Given the description of an element on the screen output the (x, y) to click on. 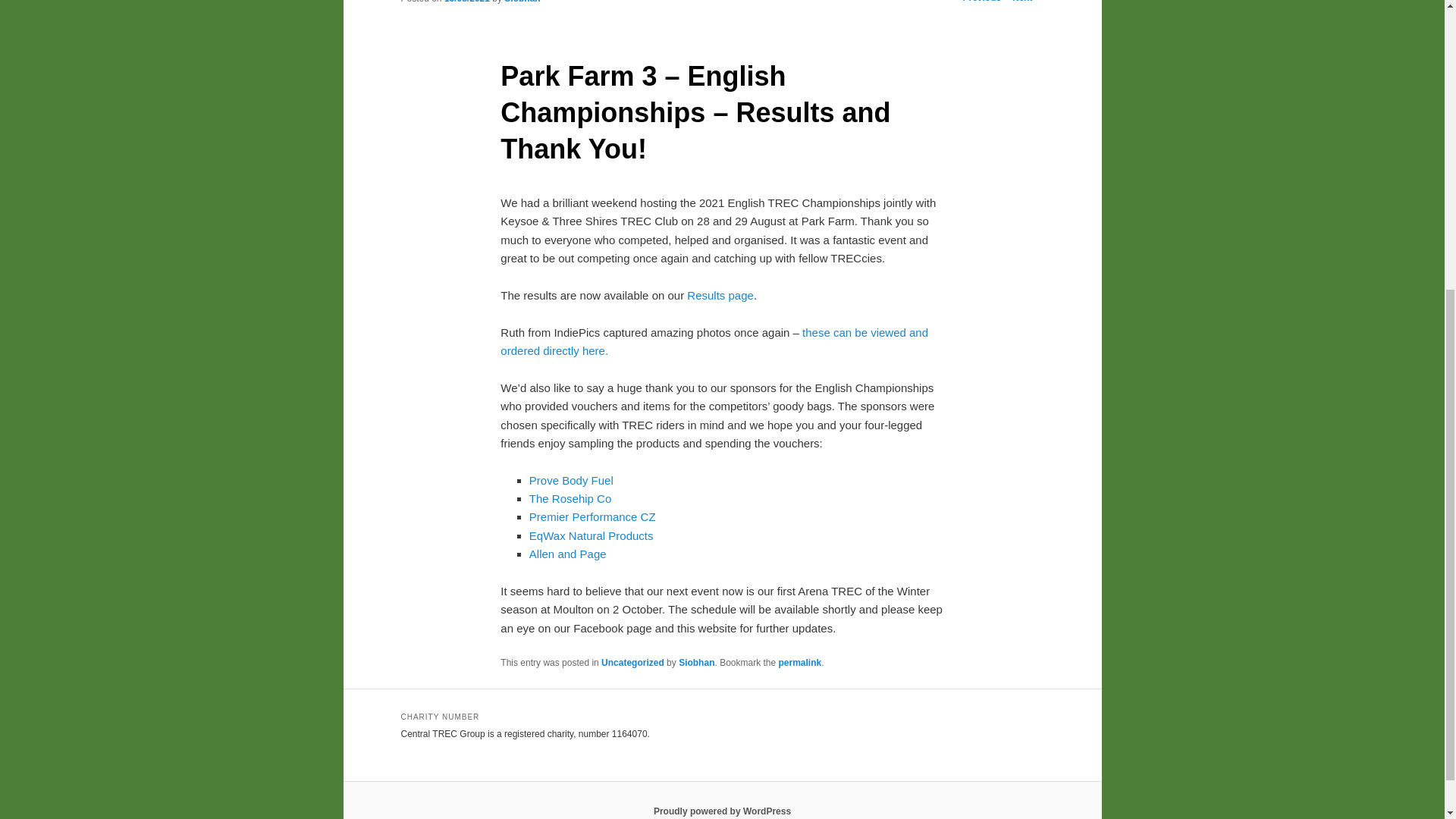
Results page (719, 295)
Semantic Personal Publishing Platform (721, 810)
View all posts by Siobhan (521, 2)
Siobhan (521, 2)
6:03 pm (466, 2)
